Given the description of an element on the screen output the (x, y) to click on. 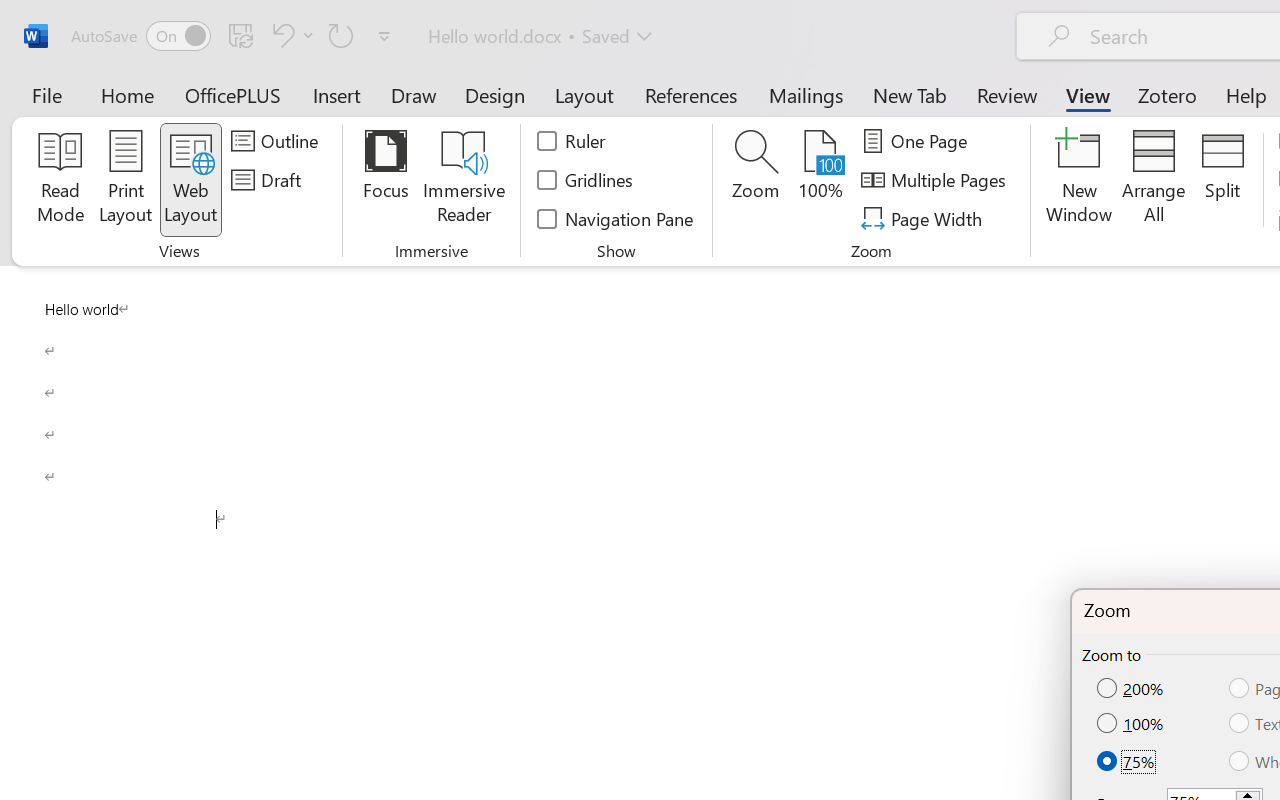
Clear Recording (412, 114)
Audio (341, 114)
